Given the description of an element on the screen output the (x, y) to click on. 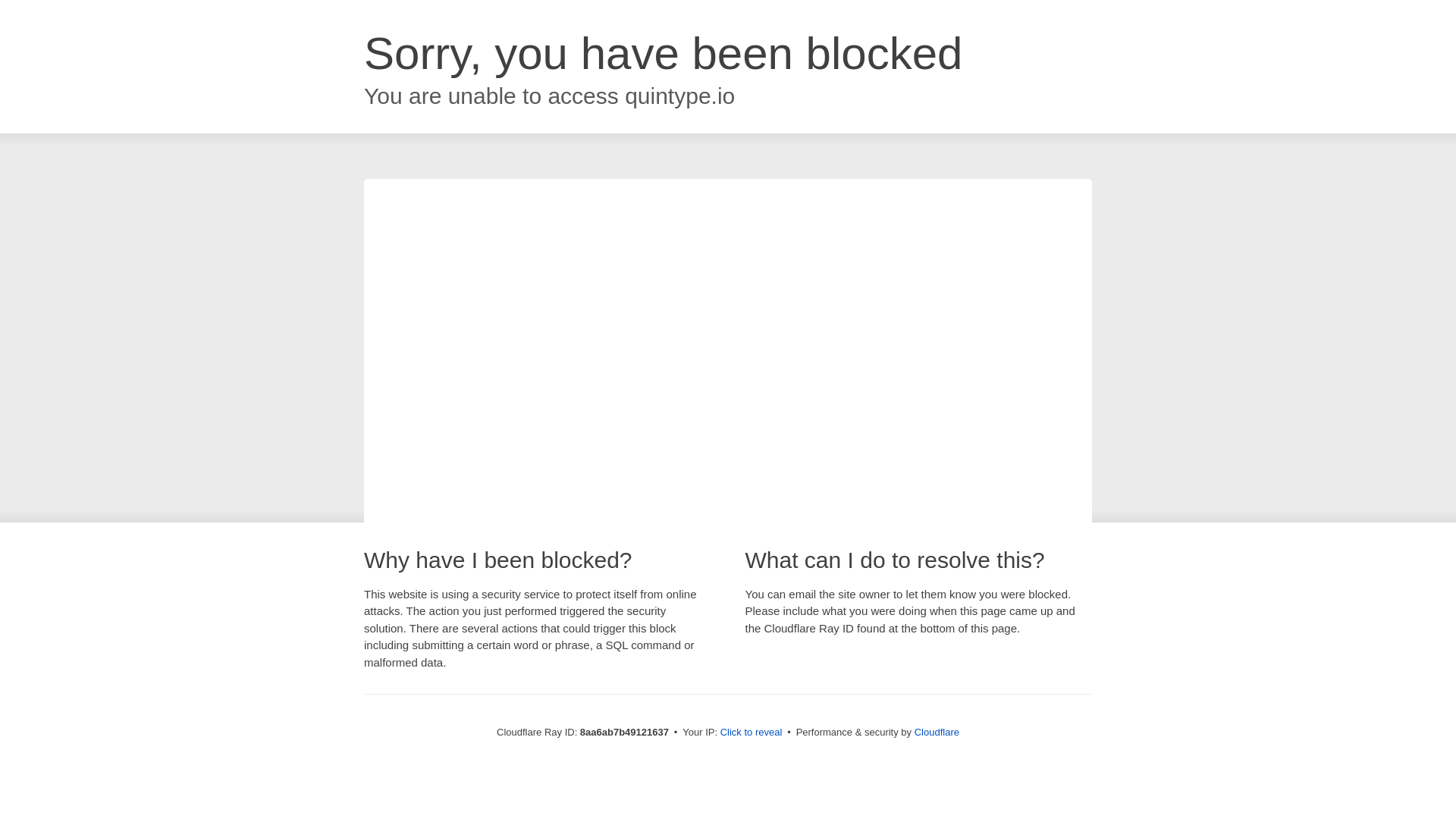
Click to reveal (751, 732)
Cloudflare (936, 731)
